Given the description of an element on the screen output the (x, y) to click on. 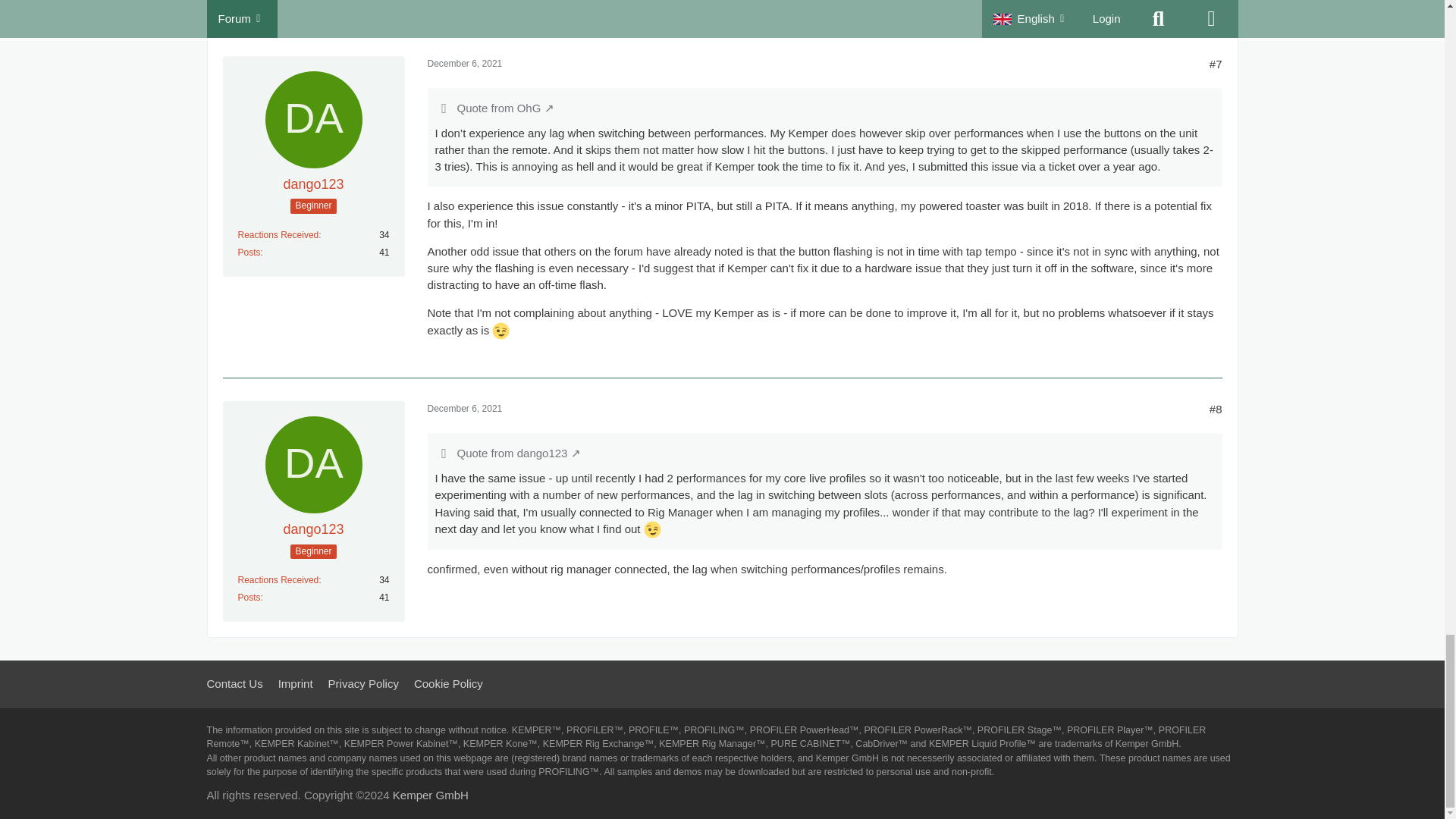
wink (500, 330)
wink (652, 529)
